Given the description of an element on the screen output the (x, y) to click on. 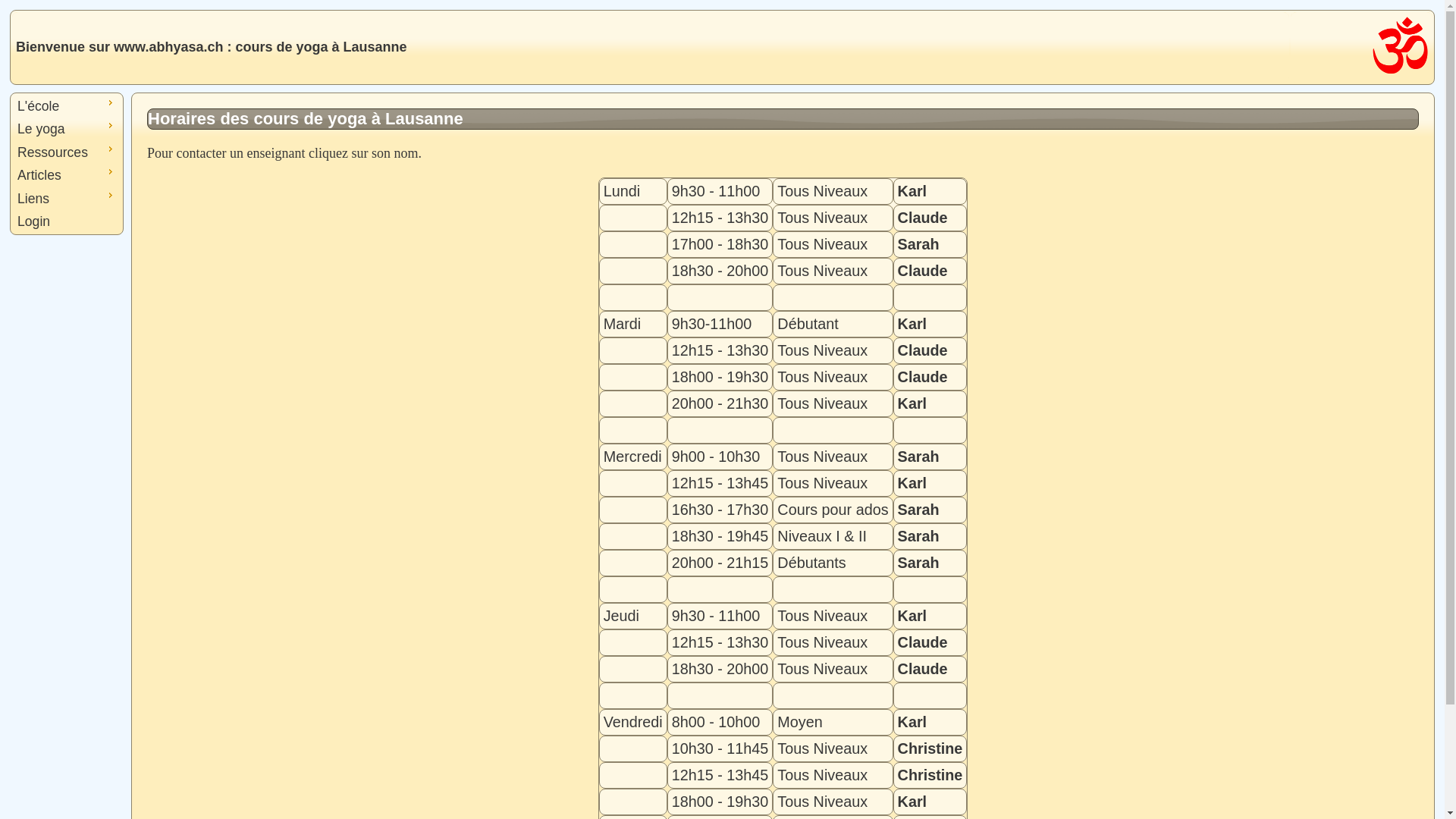
Karl Element type: text (911, 721)
Claude Element type: text (922, 668)
Sarah Element type: text (918, 243)
Karl Element type: text (911, 482)
Sarah Element type: text (918, 562)
Liens Element type: text (66, 198)
Karl Element type: text (911, 190)
Sarah Element type: text (918, 509)
Le yoga Element type: text (66, 128)
Karl Element type: text (911, 403)
Christine Element type: text (930, 774)
Karl Element type: text (911, 615)
Christine Element type: text (930, 748)
Login Element type: text (66, 221)
Articles Element type: text (66, 174)
Claude Element type: text (922, 641)
Om Element type: hover (1399, 45)
Ressources Element type: text (66, 152)
Claude Element type: text (922, 217)
Karl Element type: text (911, 801)
Karl Element type: text (911, 323)
Sarah Element type: text (918, 456)
Claude Element type: text (922, 376)
Claude Element type: text (922, 350)
Sarah Element type: text (918, 535)
Claude Element type: text (922, 270)
